Given the description of an element on the screen output the (x, y) to click on. 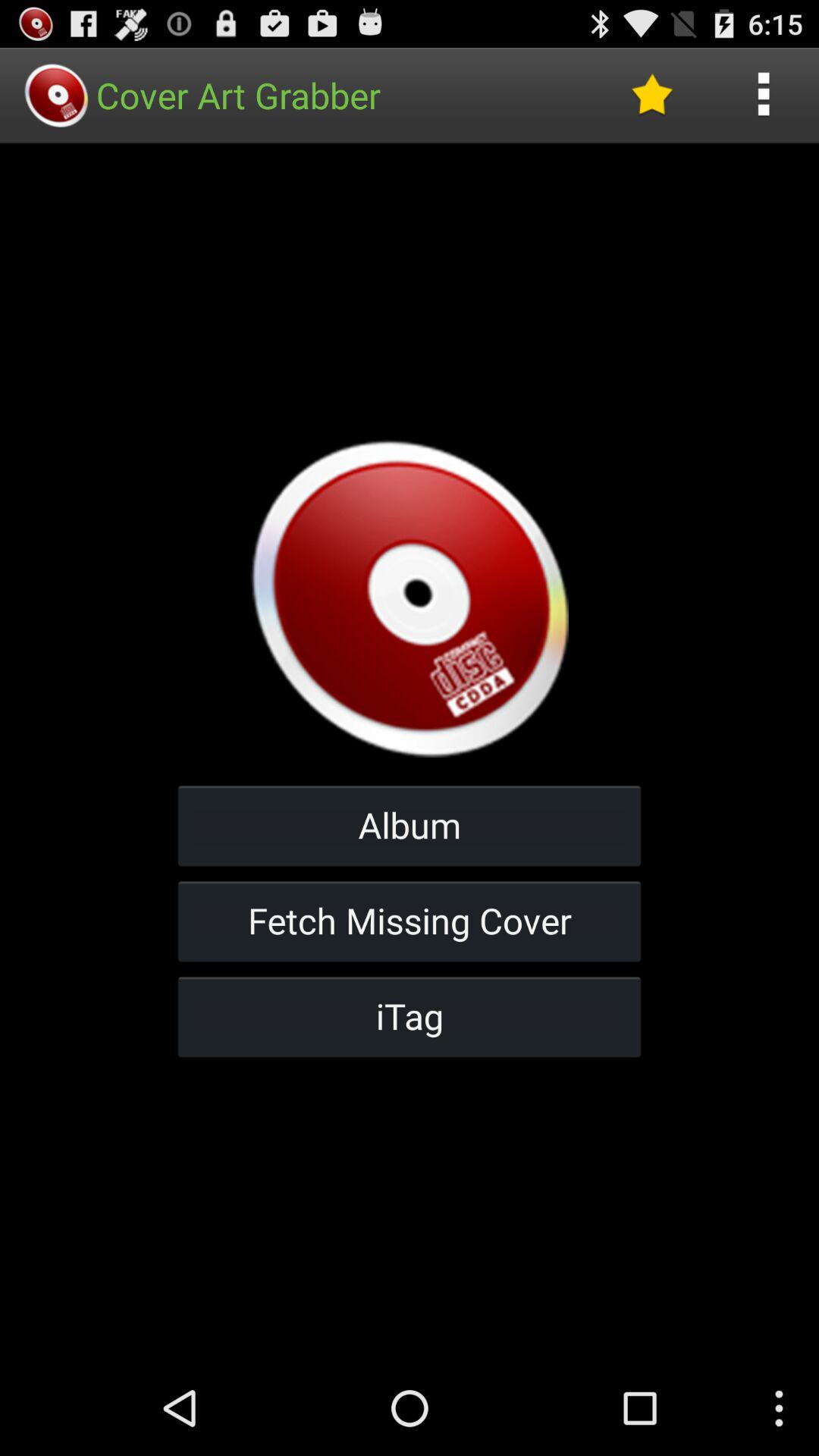
swipe to album button (409, 825)
